Given the description of an element on the screen output the (x, y) to click on. 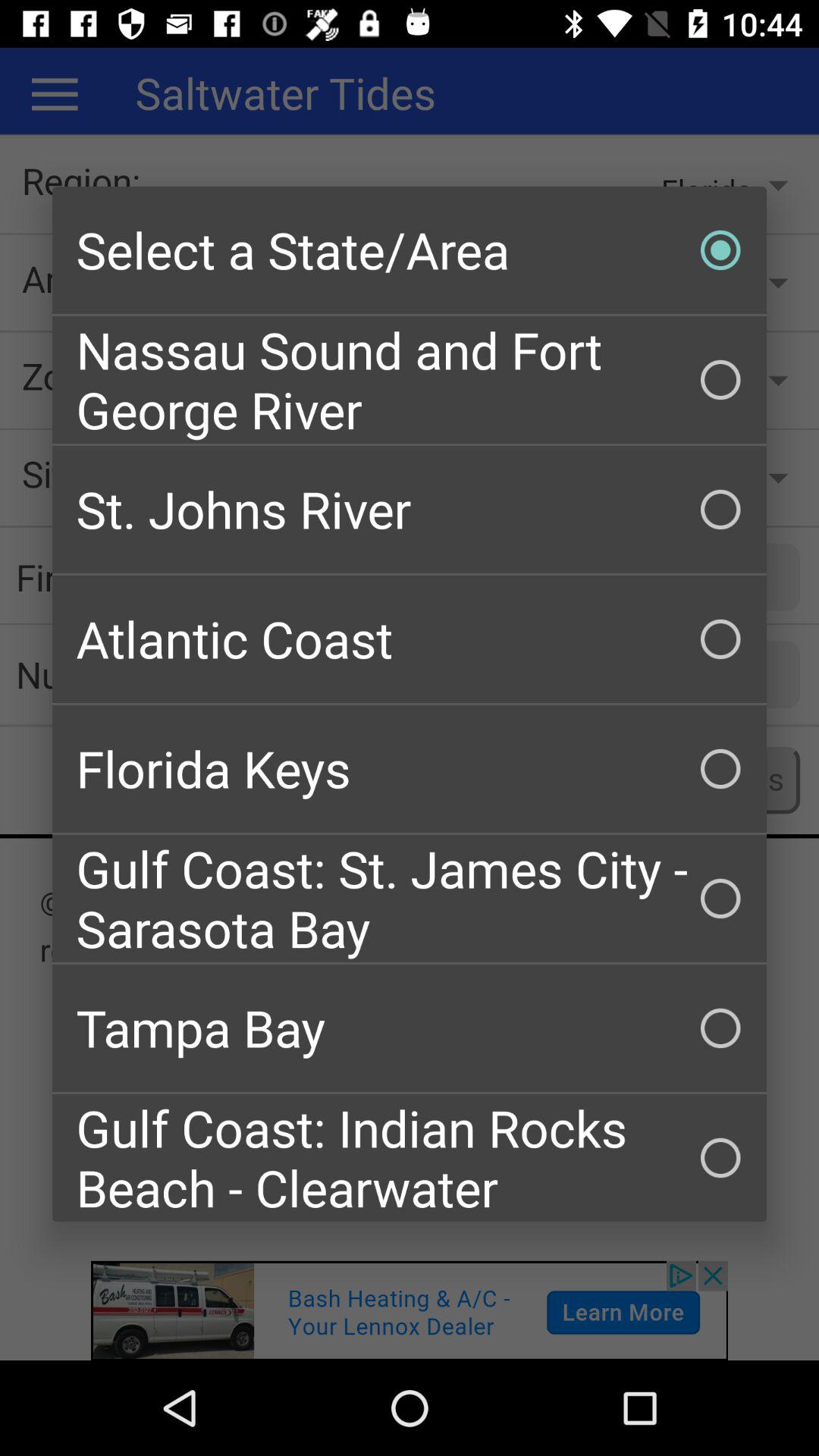
choose select a state (409, 249)
